Given the description of an element on the screen output the (x, y) to click on. 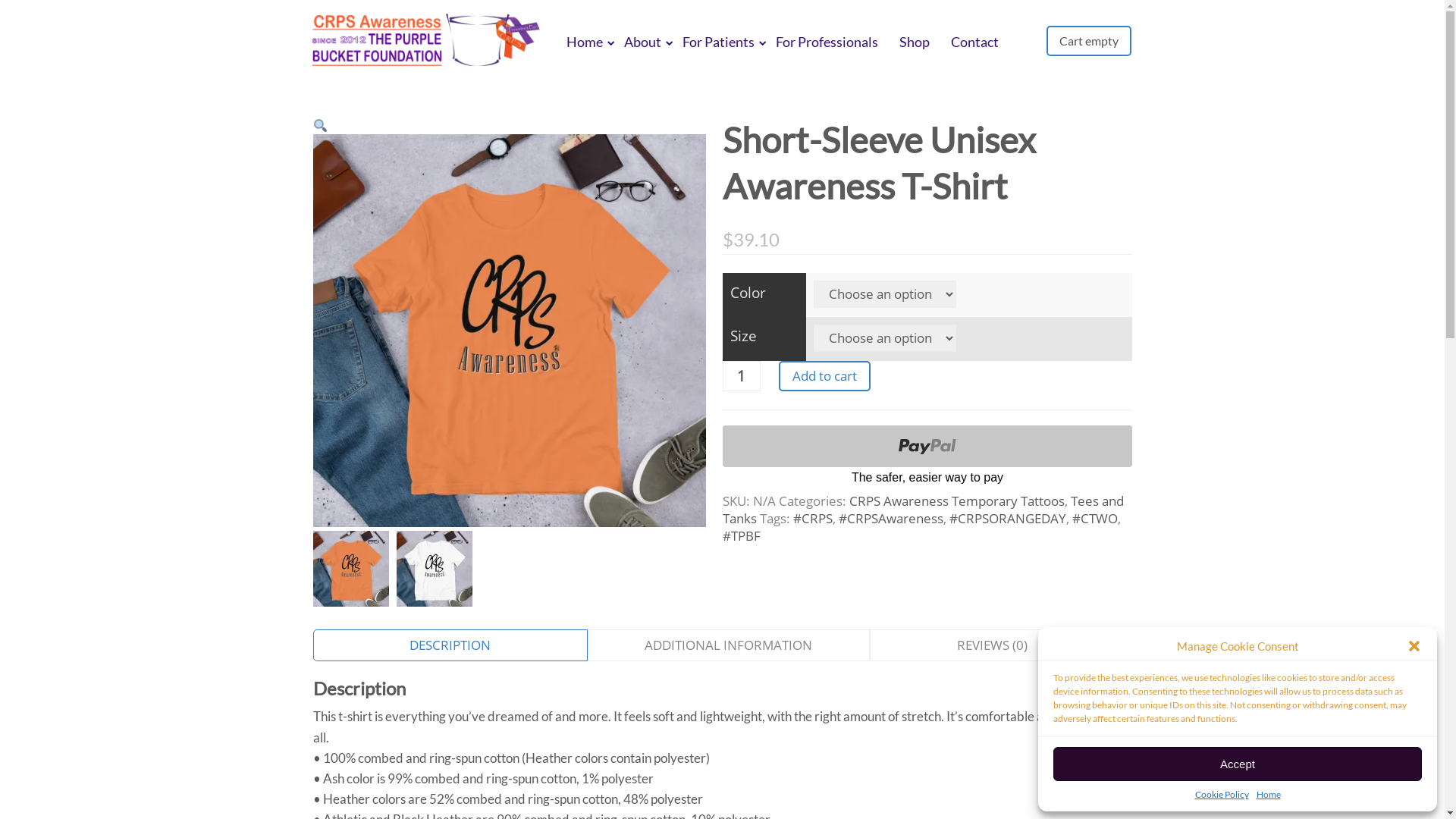
ADDITIONAL INFORMATION Element type: text (727, 645)
Add to cart Element type: text (823, 375)
#CRPSORANGEDAY Element type: text (1007, 518)
PayPal Element type: hover (926, 456)
CRPS-awareness-unisex-burnt-orange-t-shirt Element type: hover (508, 330)
About Element type: text (642, 41)
#TPBF Element type: text (740, 535)
#CRPS Element type: text (812, 518)
Home Element type: text (584, 41)
For Patients Element type: text (718, 41)
Accept Element type: text (1237, 763)
Cookie Policy Element type: text (1221, 794)
Shop Element type: text (914, 41)
For Professionals Element type: text (826, 41)
CRPS Awareness Temporary Tattoos Element type: text (956, 500)
Contact Element type: text (974, 41)
DESCRIPTION Element type: text (449, 645)
#CRPSAwareness Element type: text (890, 518)
#CTWO Element type: text (1094, 518)
Tees and Tanks Element type: text (922, 509)
REVIEWS (0) Element type: text (991, 645)
Cart empty Element type: text (1088, 40)
Home Element type: text (1267, 794)
